Given the description of an element on the screen output the (x, y) to click on. 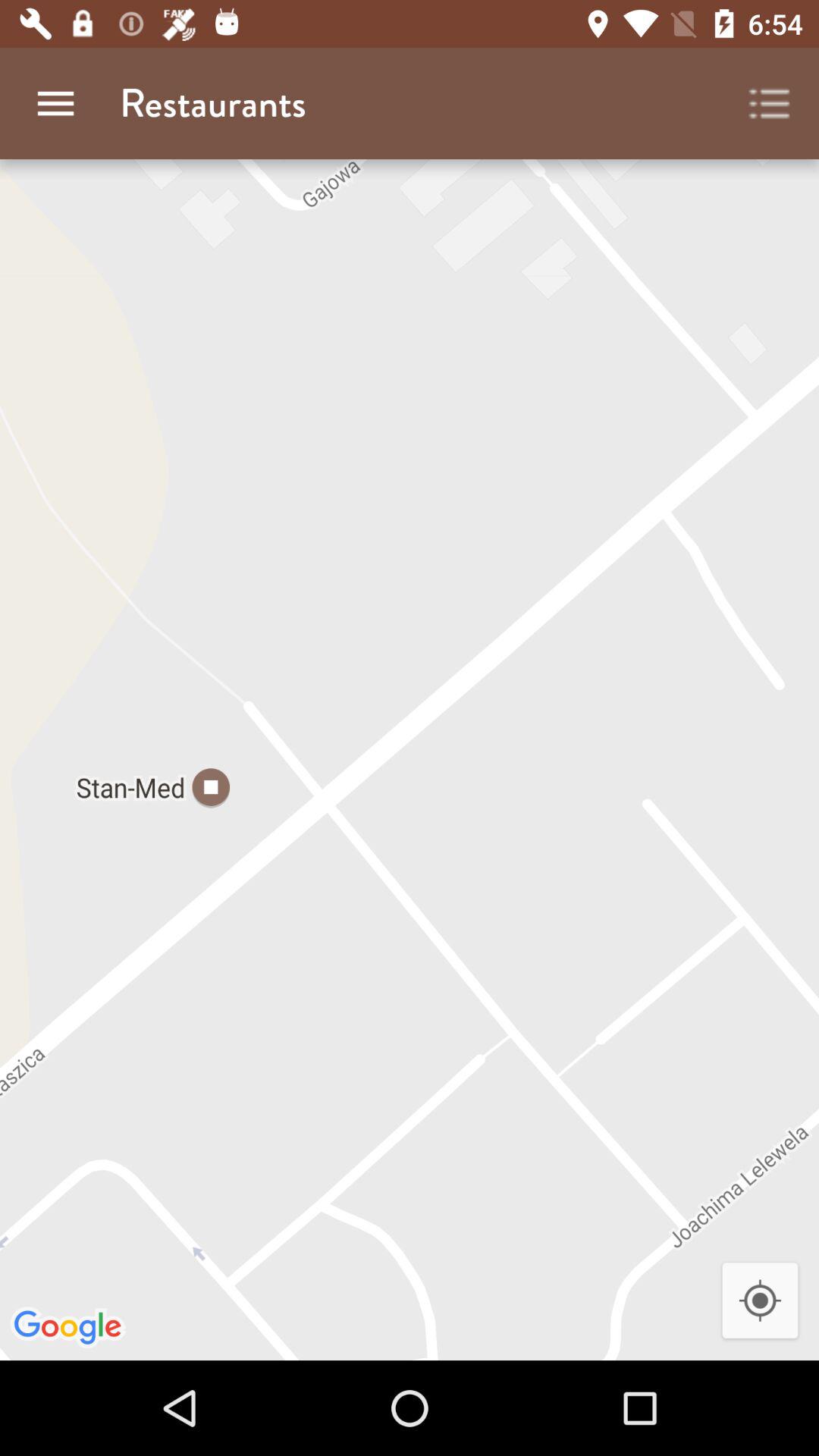
turn off the item to the left of restaurants (55, 103)
